Given the description of an element on the screen output the (x, y) to click on. 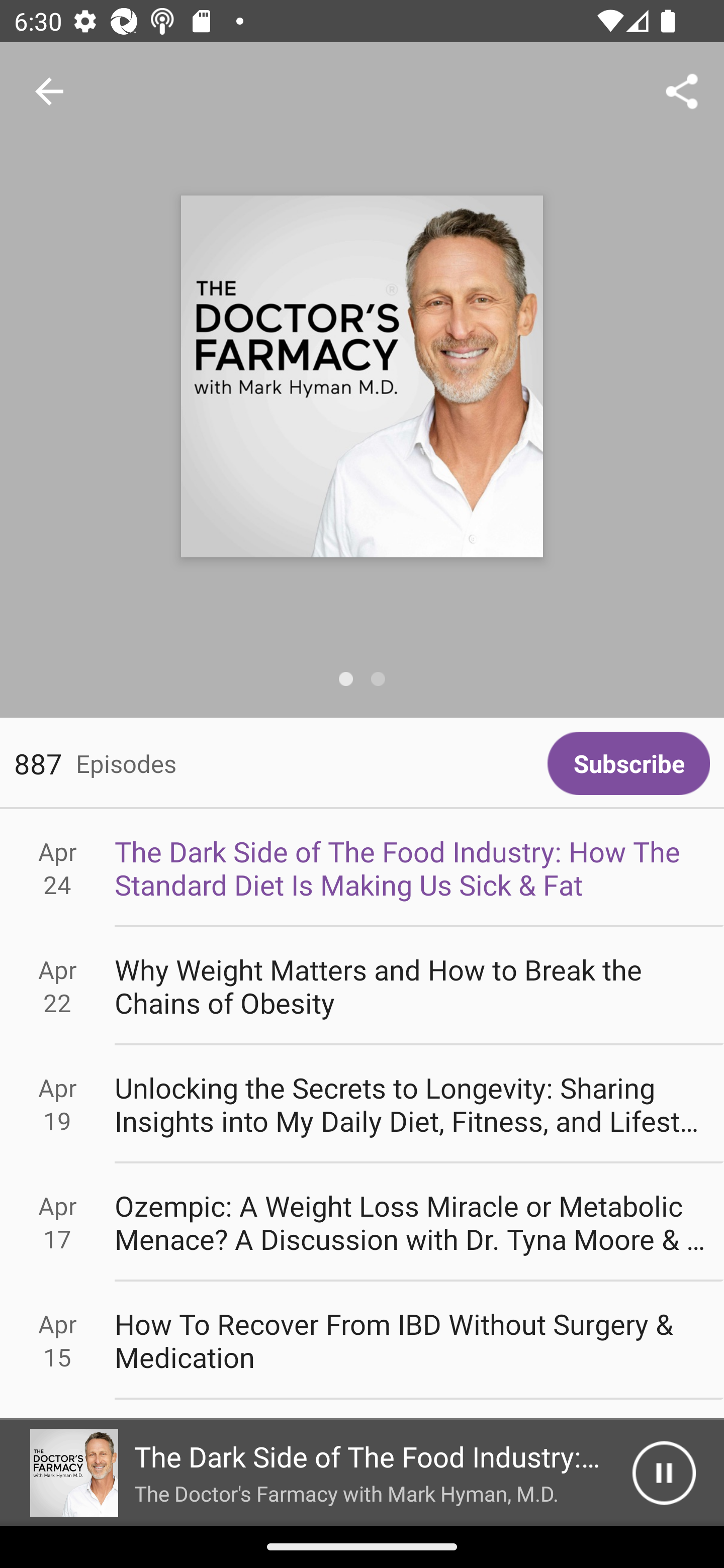
Navigate up (49, 91)
Share... (681, 90)
Subscribe (628, 763)
Pause (663, 1472)
